Given the description of an element on the screen output the (x, y) to click on. 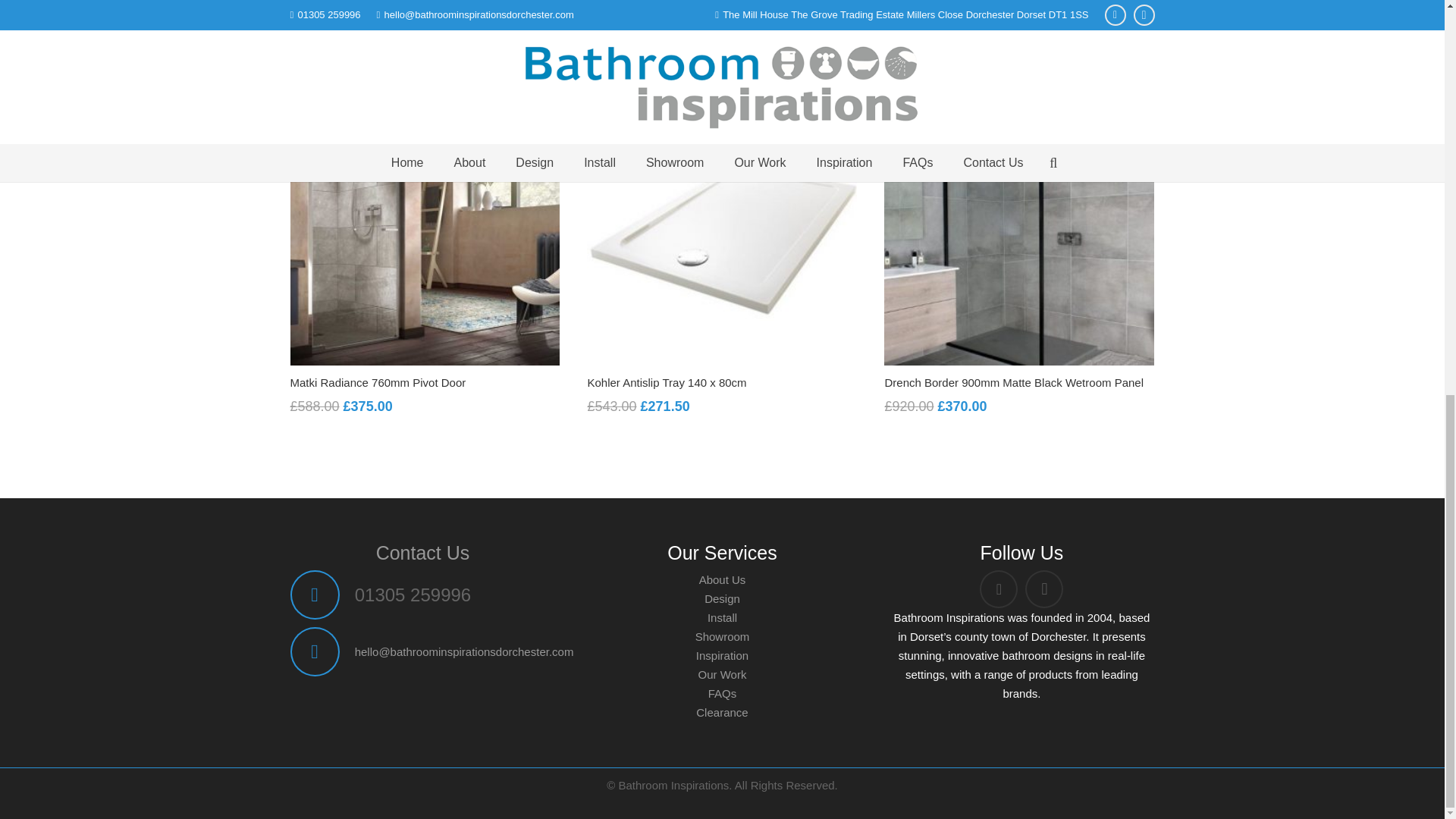
Install (721, 617)
Facebook (998, 589)
Contact Us (422, 552)
Design (721, 598)
01305 259996 (413, 595)
Contact Us (422, 552)
Instagram (1043, 589)
Back to top (1413, 85)
About Us (721, 579)
